Given the description of an element on the screen output the (x, y) to click on. 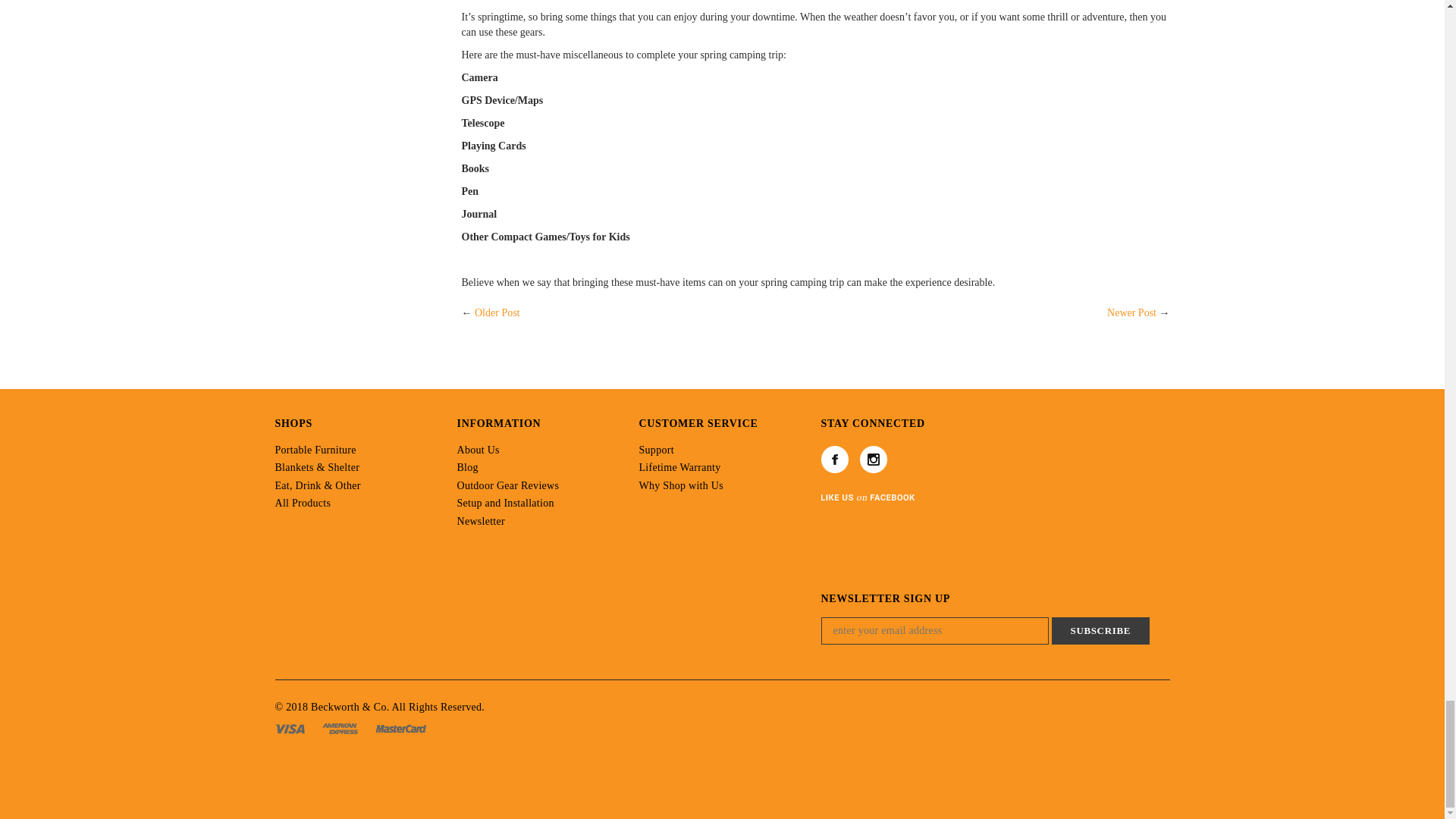
Facebook (834, 458)
American express (341, 727)
Mastercard (400, 727)
Instagram (873, 458)
Visa (291, 727)
Subscribe (1100, 630)
